Given the description of an element on the screen output the (x, y) to click on. 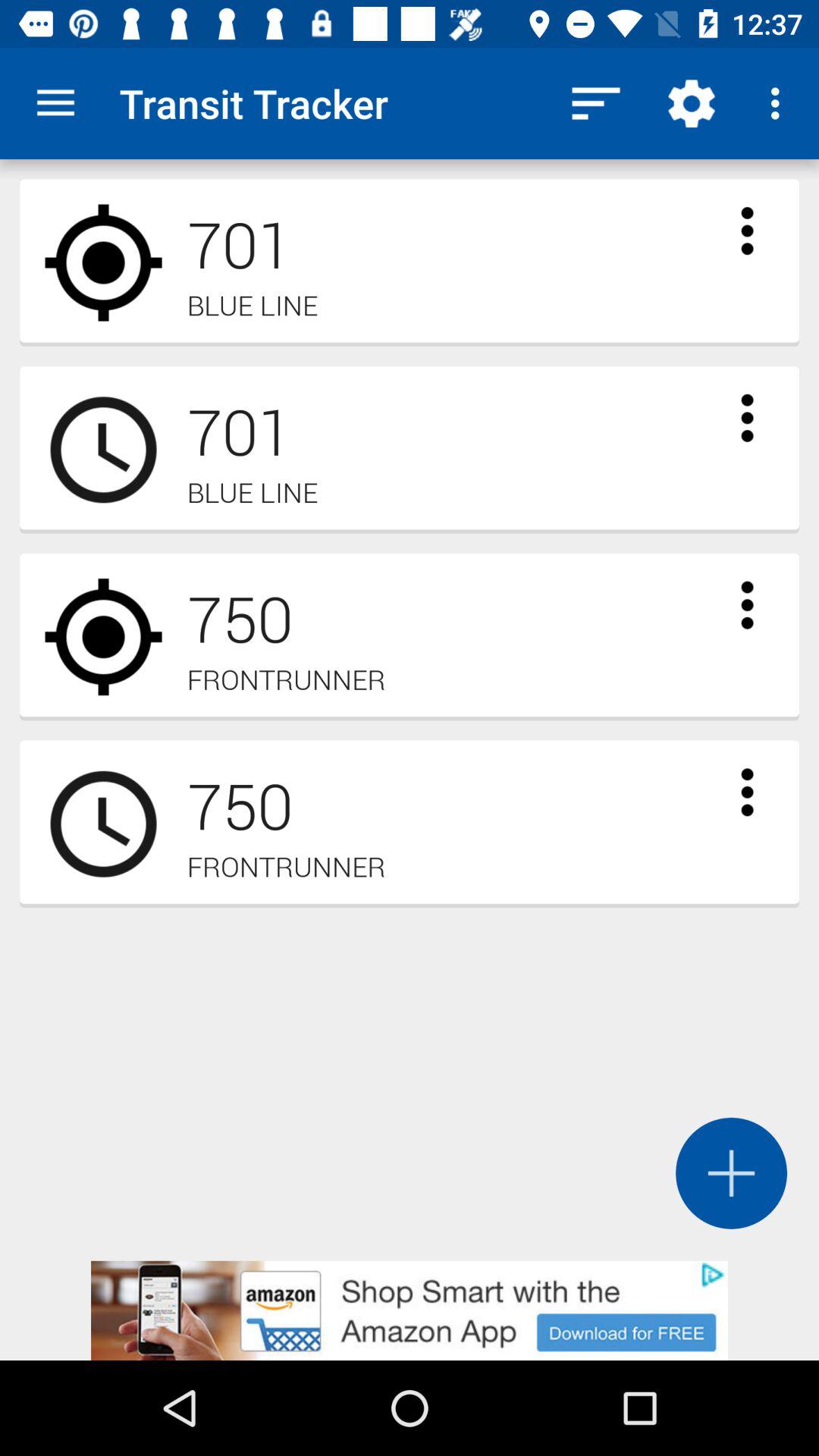
open drop down menu (747, 605)
